Given the description of an element on the screen output the (x, y) to click on. 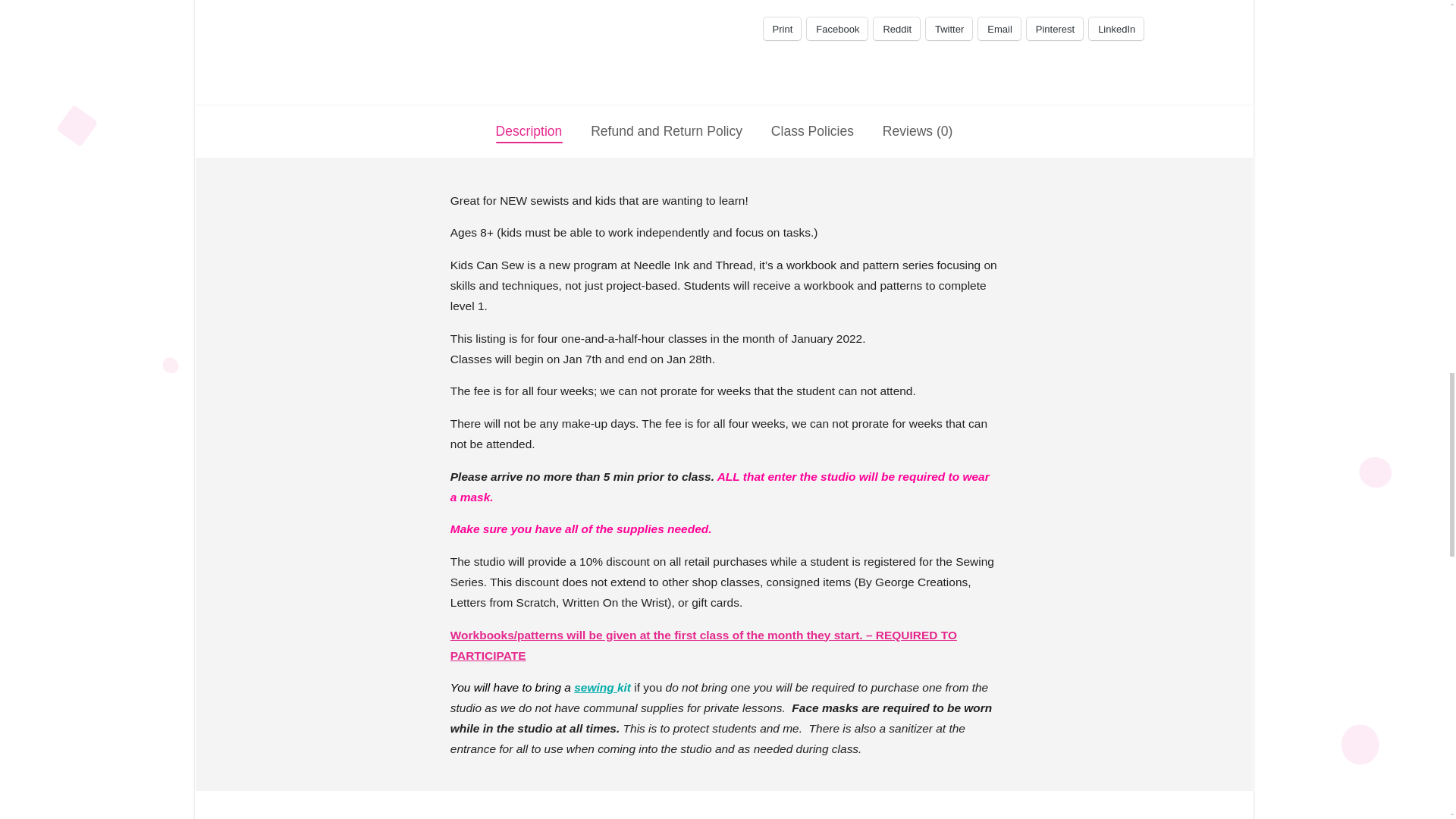
Click to share on Pinterest (1054, 28)
Click to share on Facebook (836, 28)
Click to share on Twitter (949, 28)
Click to print (782, 28)
Click to share on Reddit (896, 28)
Click to email a link to a friend (999, 28)
Click to share on LinkedIn (1115, 28)
